Given the description of an element on the screen output the (x, y) to click on. 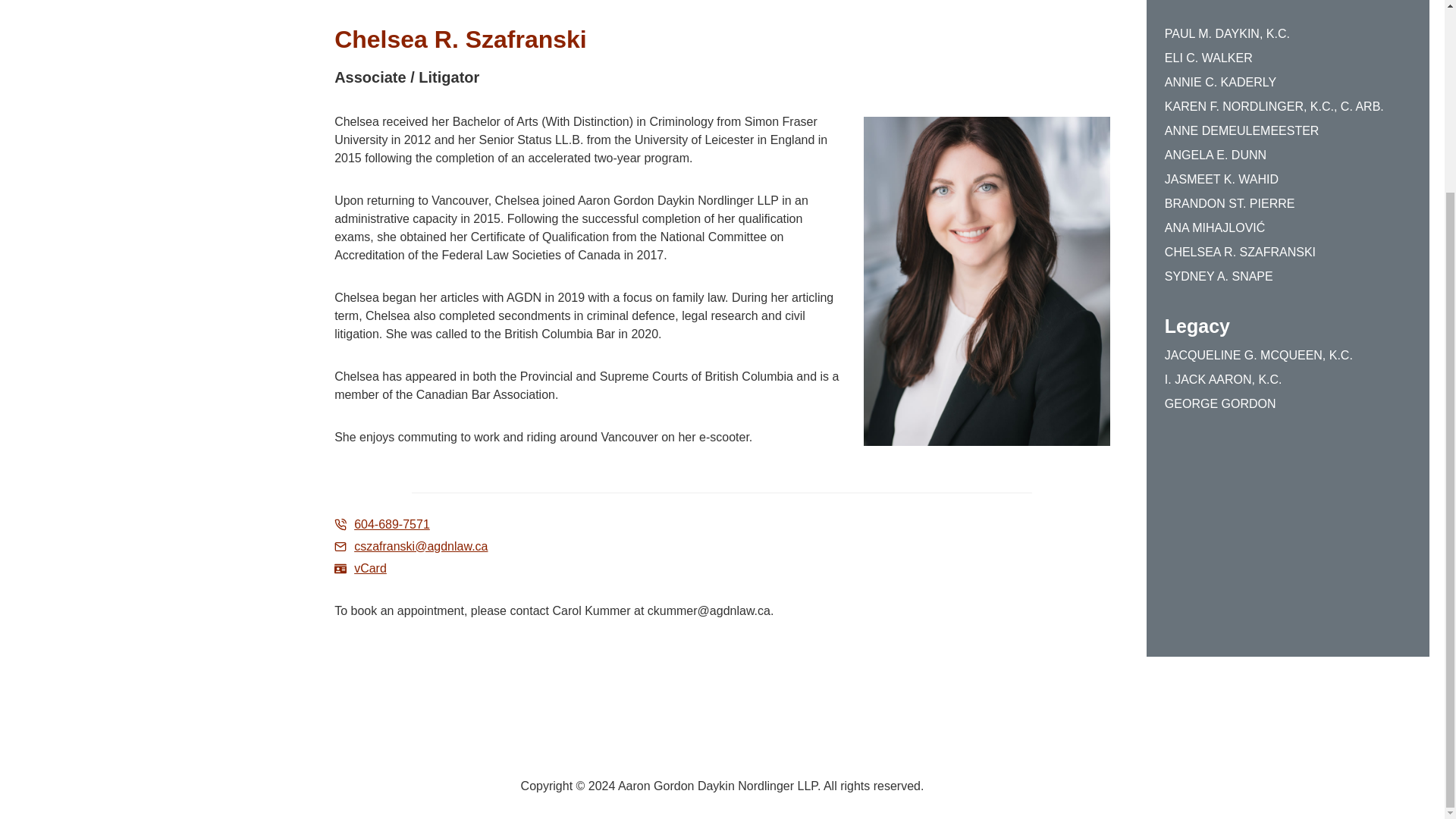
GEORGE GORDON (1220, 403)
I. JACK AARON, K.C. (1223, 380)
SYDNEY A. SNAPE (1218, 276)
604-689-7571 (381, 524)
BRANDON ST. PIERRE (1229, 203)
CHELSEA R. SZAFRANSKI (1240, 252)
JACQUELINE G. MCQUEEN, K.C. (1258, 355)
JASMEET K. WAHID (1221, 179)
PAUL M. DAYKIN, K.C. (1227, 34)
ANGELA E. DUNN (1215, 155)
